Given the description of an element on the screen output the (x, y) to click on. 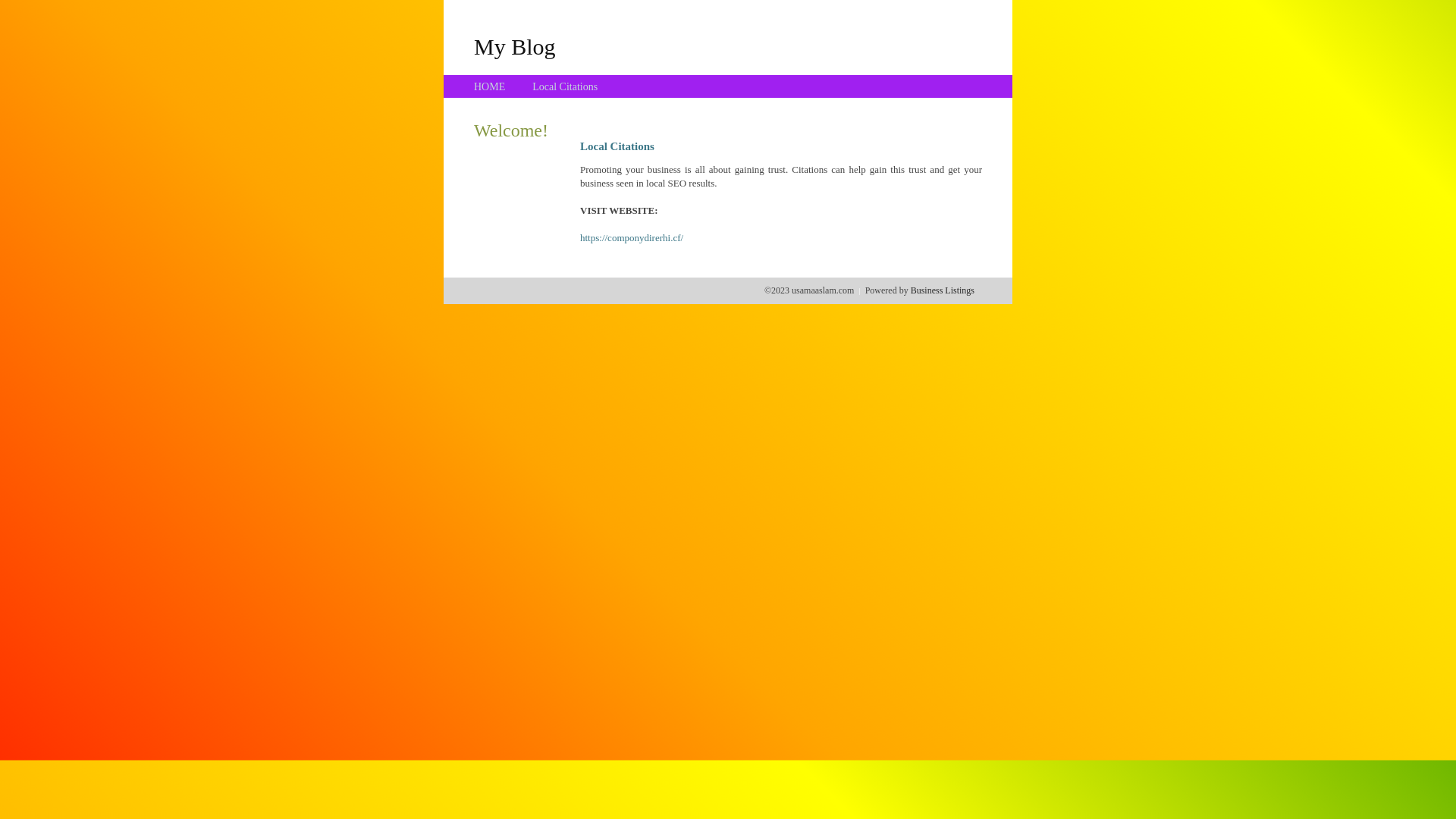
HOME Element type: text (489, 86)
Business Listings Element type: text (942, 290)
My Blog Element type: text (514, 46)
https://componydirerhi.cf/ Element type: text (631, 237)
Local Citations Element type: text (564, 86)
